Given the description of an element on the screen output the (x, y) to click on. 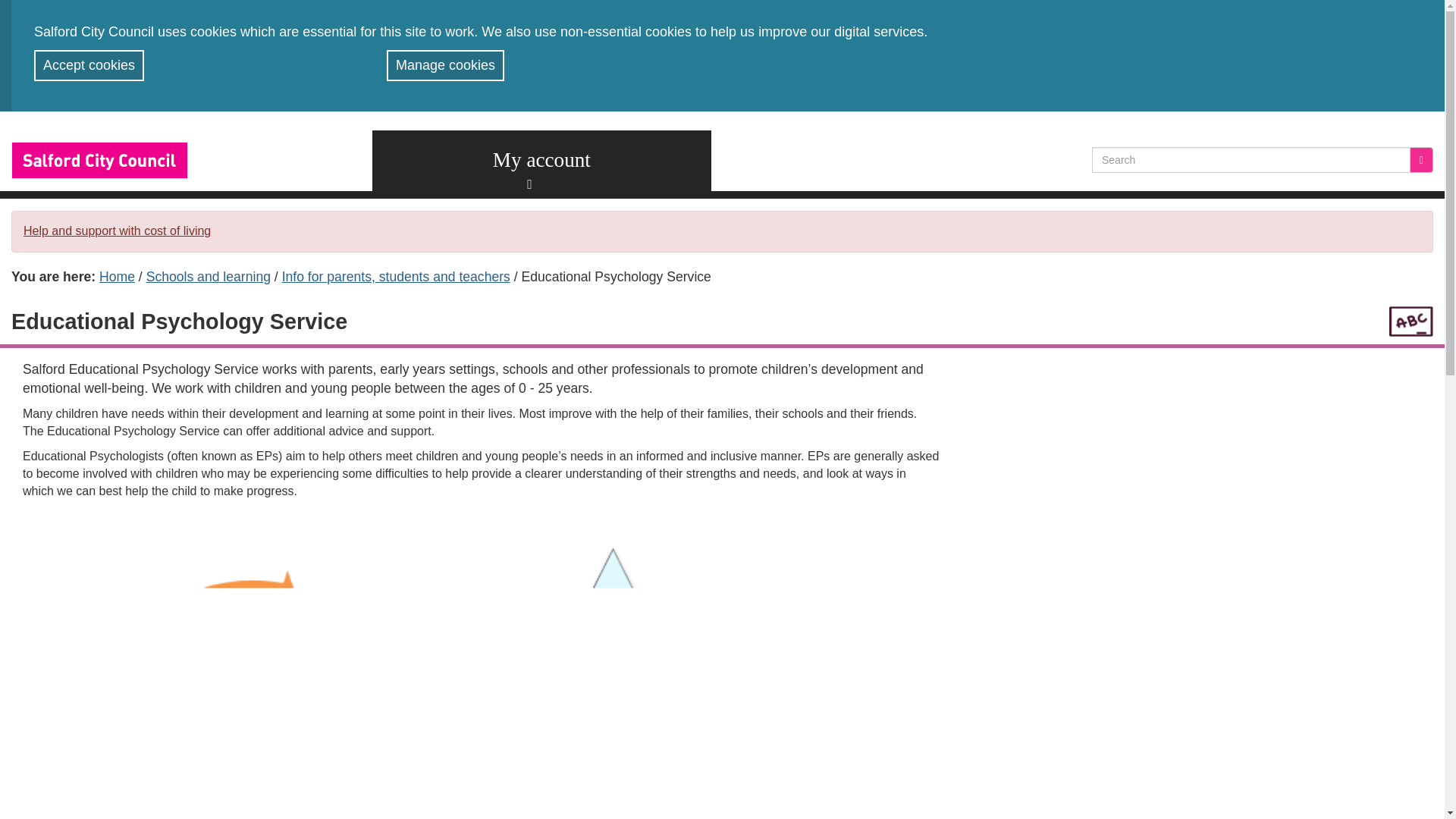
Accept cookies (88, 65)
Schools and learning (208, 276)
Info for parents, students and teachers (396, 276)
My account (541, 160)
Manage cookies (445, 65)
Search site (1420, 159)
Accept cookies (88, 65)
Home (117, 276)
Help and support with cost of living (117, 230)
Support with the Cost of Living (117, 230)
